Given the description of an element on the screen output the (x, y) to click on. 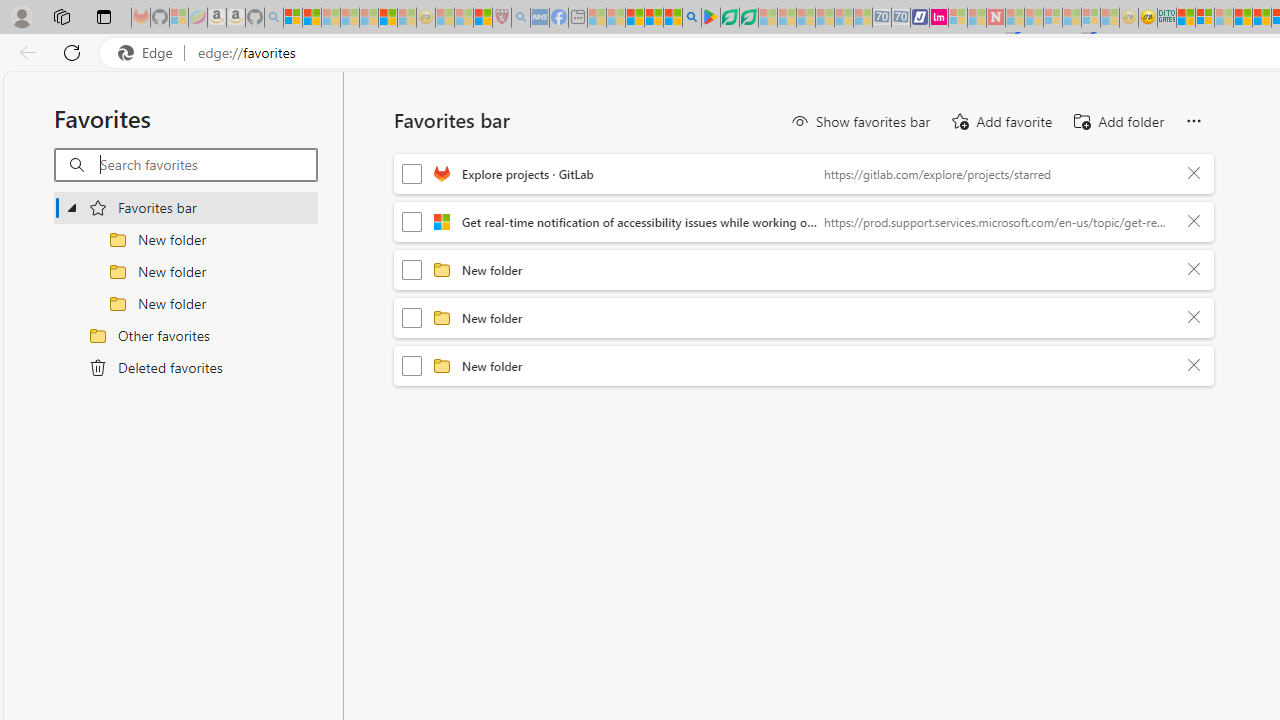
Edge (150, 53)
Cheap Hotels - Save70.com - Sleeping (901, 17)
Microsoft account | Privacy (1204, 17)
Tab actions menu (104, 16)
Expert Portfolios (1242, 17)
Workspaces (61, 16)
Microsoft account | Privacy - Sleeping (957, 17)
list of asthma inhalers uk - Search - Sleeping (520, 17)
New Report Confirms 2023 Was Record Hot | Watch - Sleeping (368, 17)
